Given the description of an element on the screen output the (x, y) to click on. 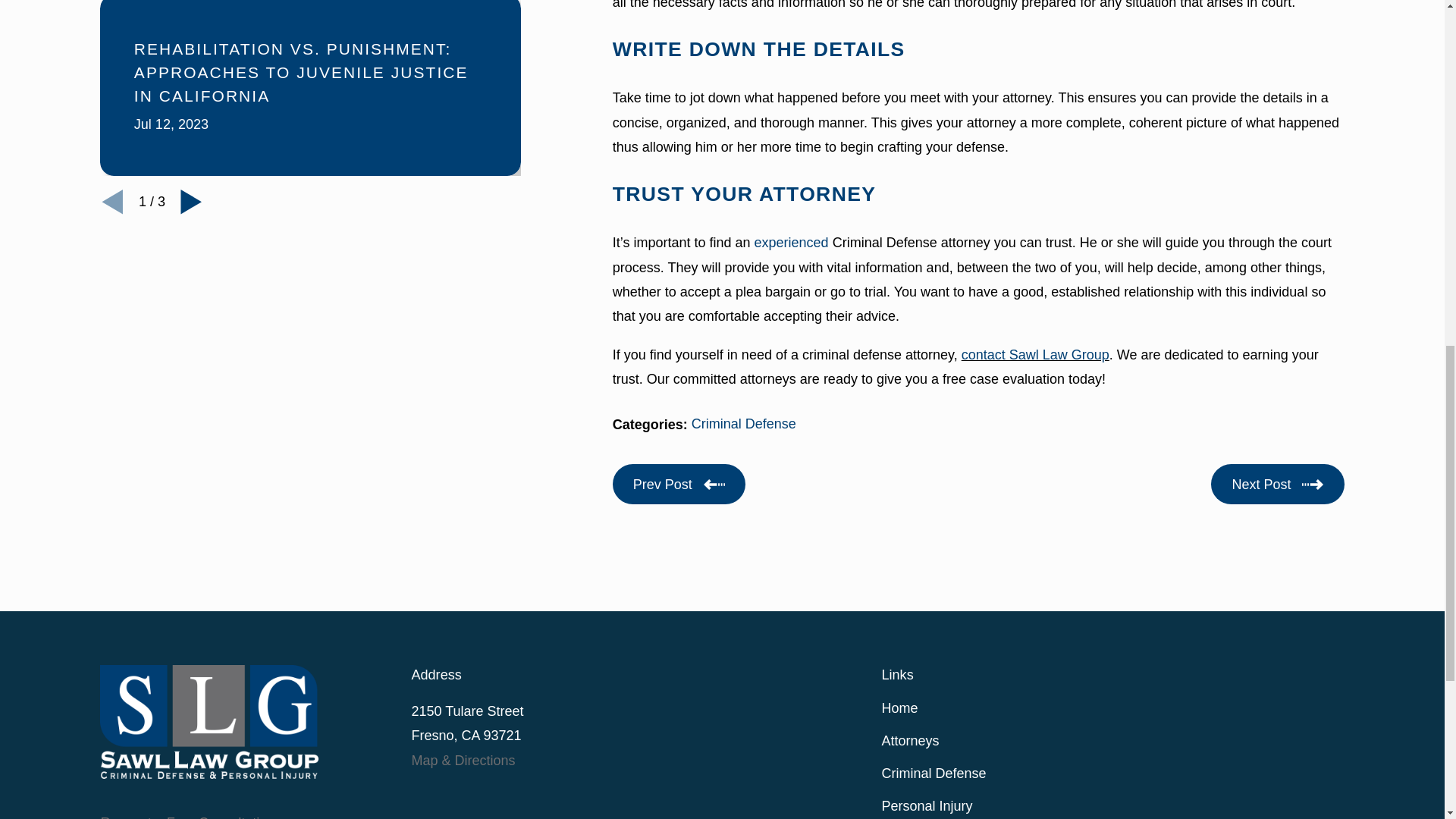
View previous item (111, 201)
Home (209, 721)
View next item (191, 201)
